Given the description of an element on the screen output the (x, y) to click on. 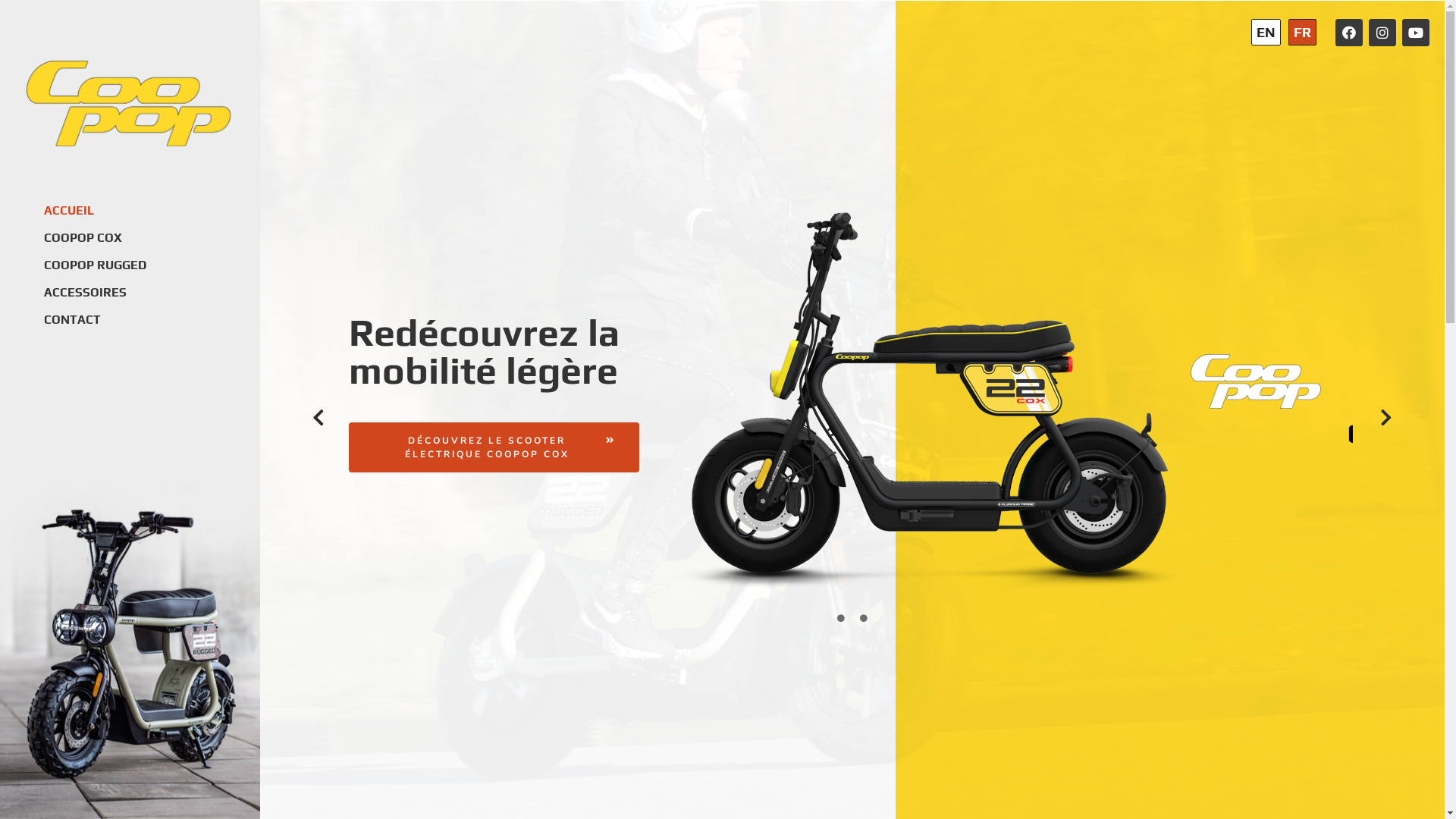
EN Element type: text (1265, 31)
COOPOP RUGGED Element type: text (118, 265)
CONTACT Element type: text (118, 319)
ACCESSOIRES Element type: text (118, 292)
ACCUEIL Element type: text (118, 210)
FR Element type: text (1302, 31)
COOPOP COX Element type: text (118, 237)
